Given the description of an element on the screen output the (x, y) to click on. 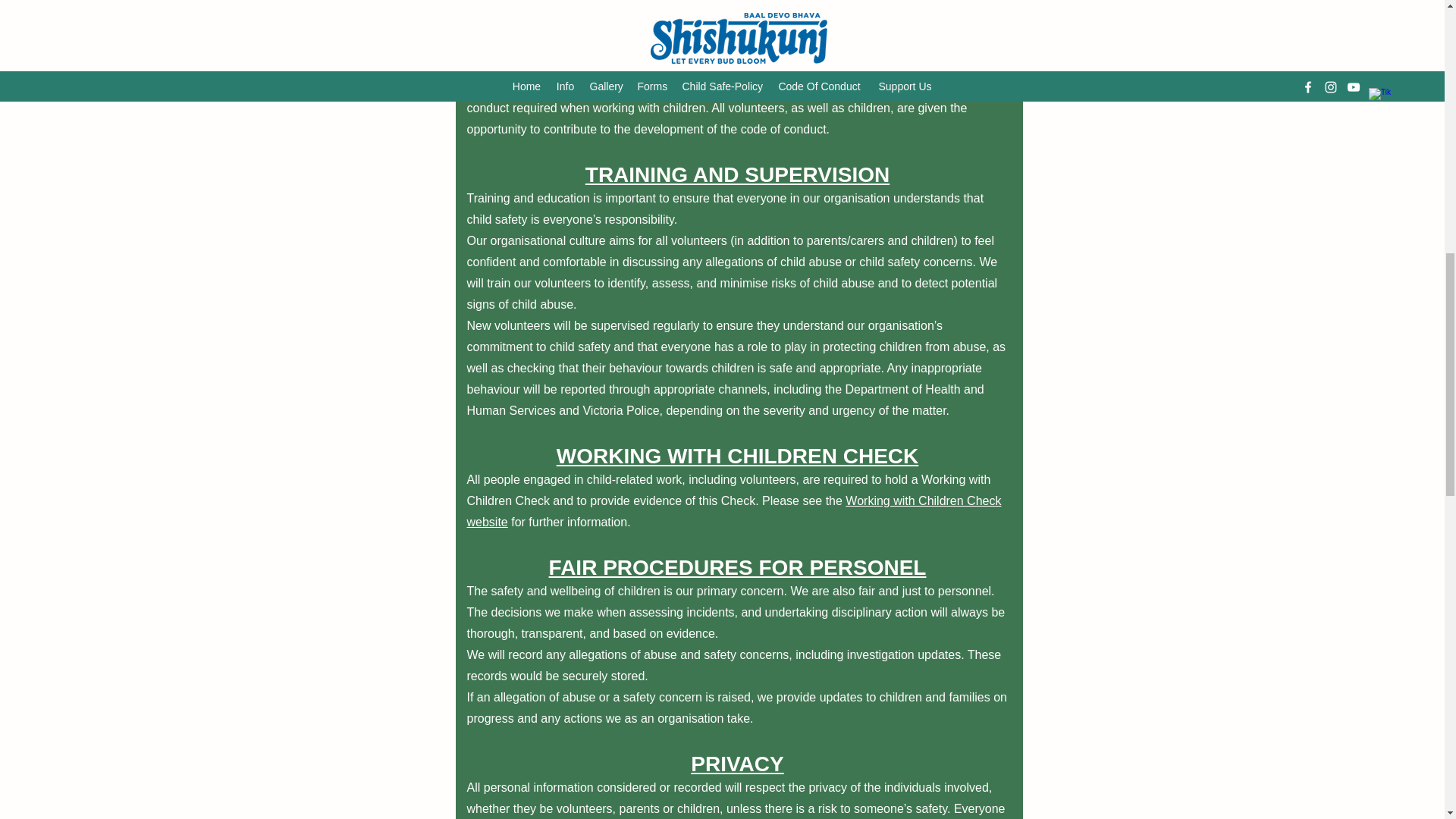
Working with Children Check website (734, 511)
